Given the description of an element on the screen output the (x, y) to click on. 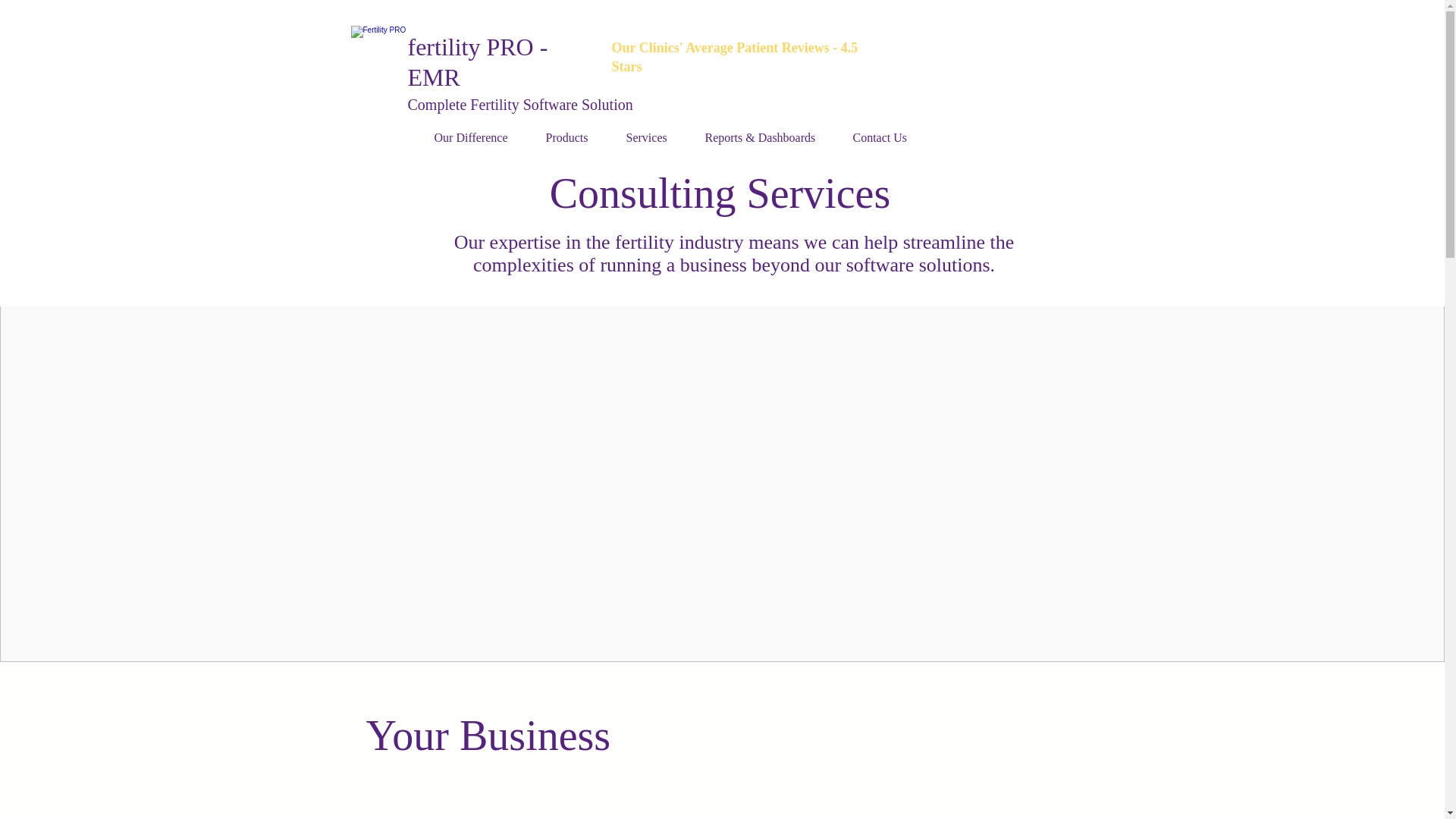
Our Difference (478, 137)
Contact Us (887, 137)
